Given the description of an element on the screen output the (x, y) to click on. 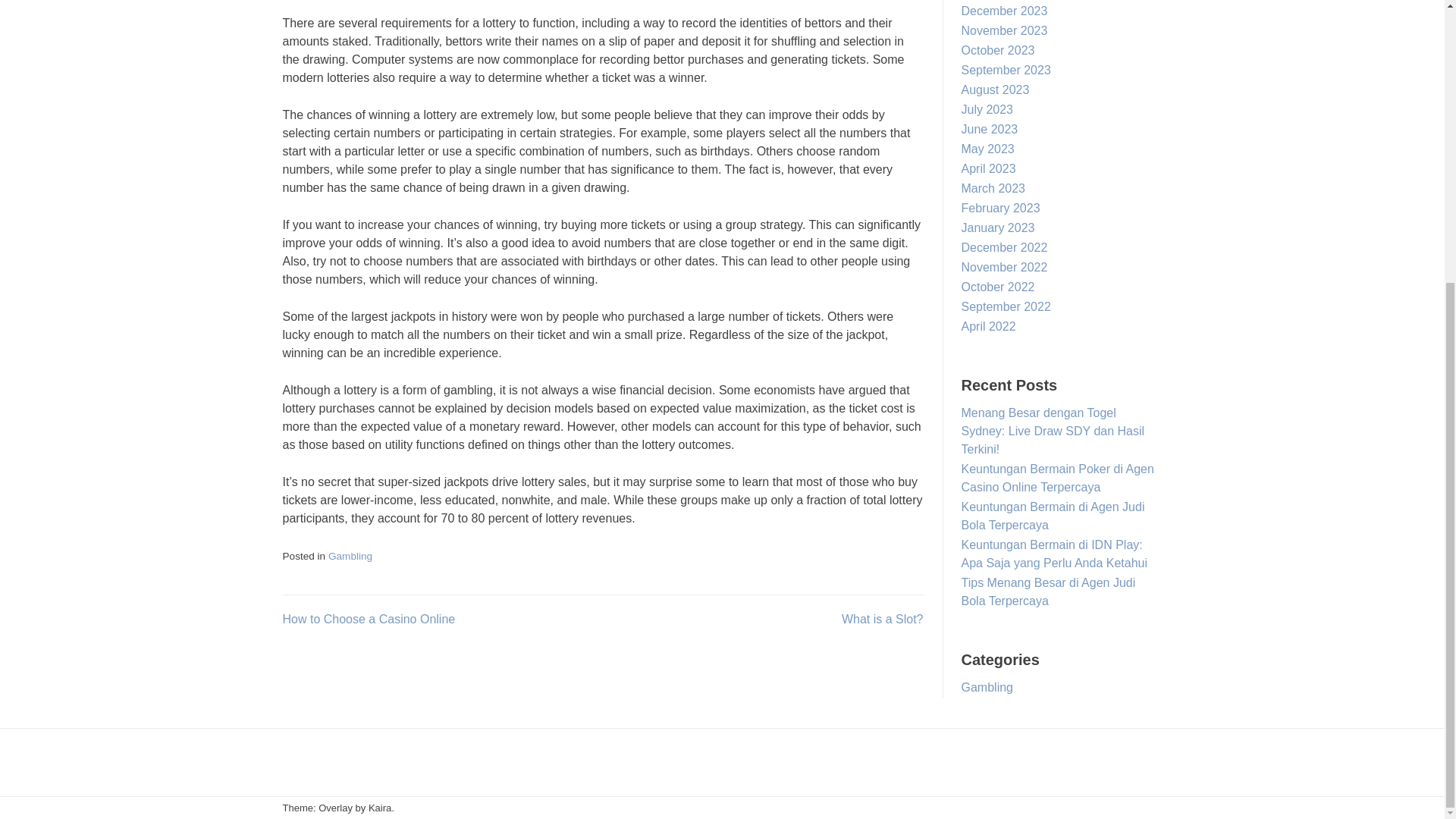
May 2023 (987, 148)
October 2022 (997, 286)
September 2023 (1005, 69)
June 2023 (988, 128)
September 2022 (1005, 306)
July 2023 (986, 109)
April 2022 (988, 326)
How to Choose a Casino Online (368, 618)
April 2023 (988, 168)
Gambling (350, 555)
